Given the description of an element on the screen output the (x, y) to click on. 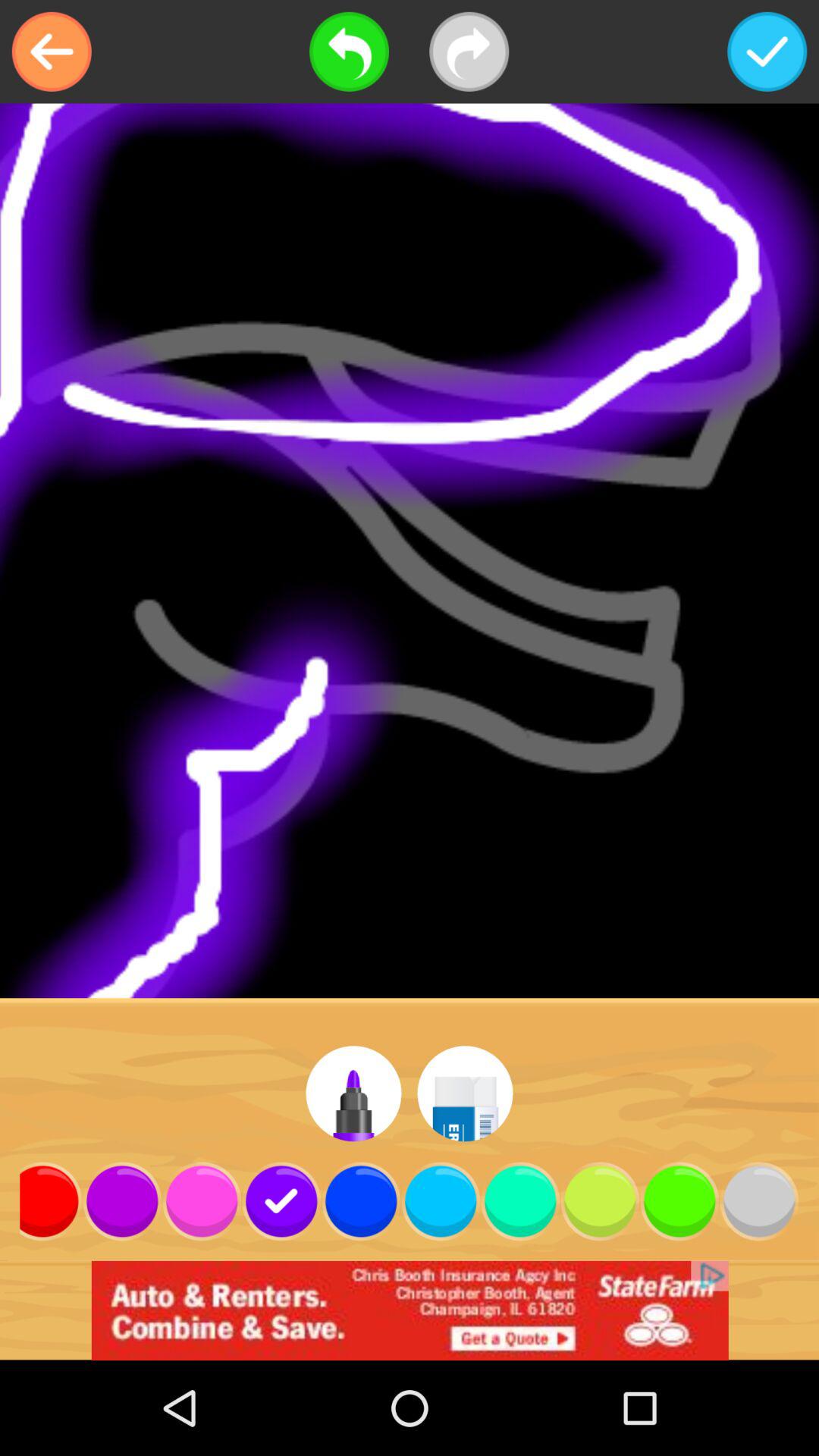
click to view add (409, 1310)
